Given the description of an element on the screen output the (x, y) to click on. 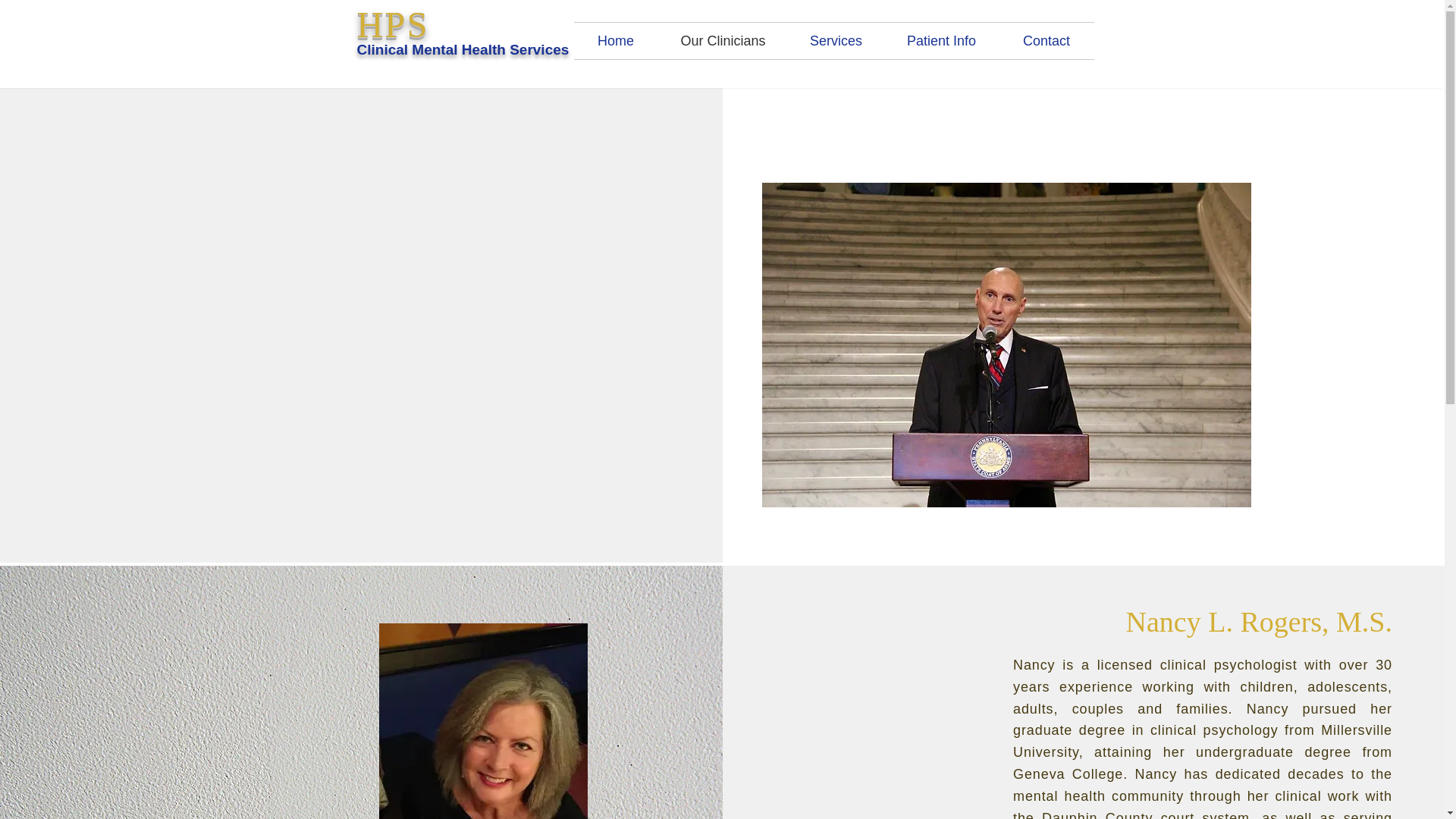
Patient Info (940, 40)
HPS (392, 24)
Services (836, 40)
Contact (1046, 40)
Our Clinicians (723, 40)
Clinical Mental Health Services (462, 49)
Home (615, 40)
